Given the description of an element on the screen output the (x, y) to click on. 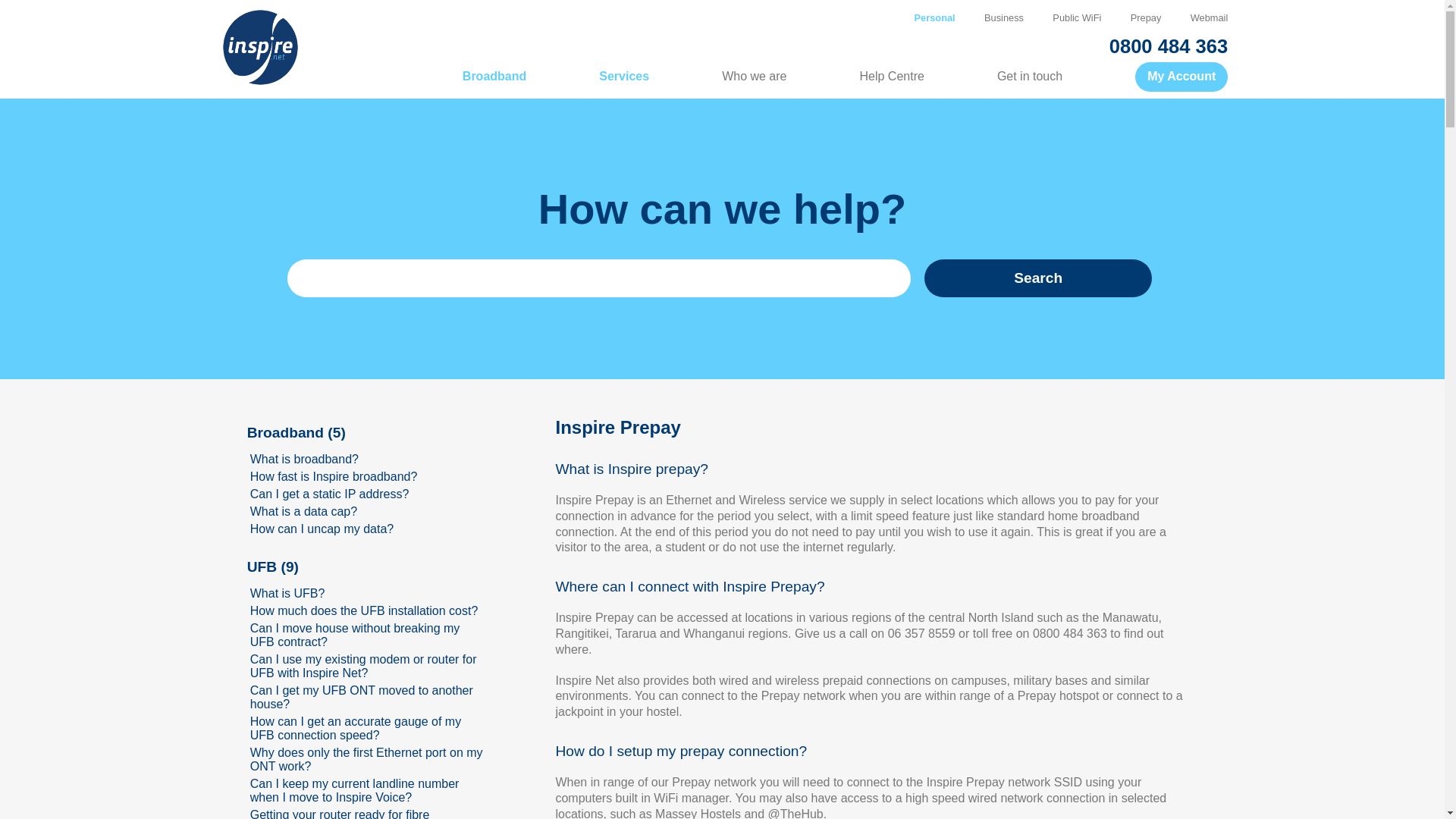
My Account (1181, 76)
View topic (321, 528)
View topic (355, 634)
View topic (366, 759)
Can I get a static IP address? (329, 493)
Help Centre (855, 70)
View topic (363, 665)
View topic (287, 593)
View topic (339, 813)
Public WiFi (1061, 18)
View topic (364, 610)
How much does the UFB installation cost? (364, 610)
View topic (333, 476)
Who we are (717, 70)
View topic (303, 511)
